Given the description of an element on the screen output the (x, y) to click on. 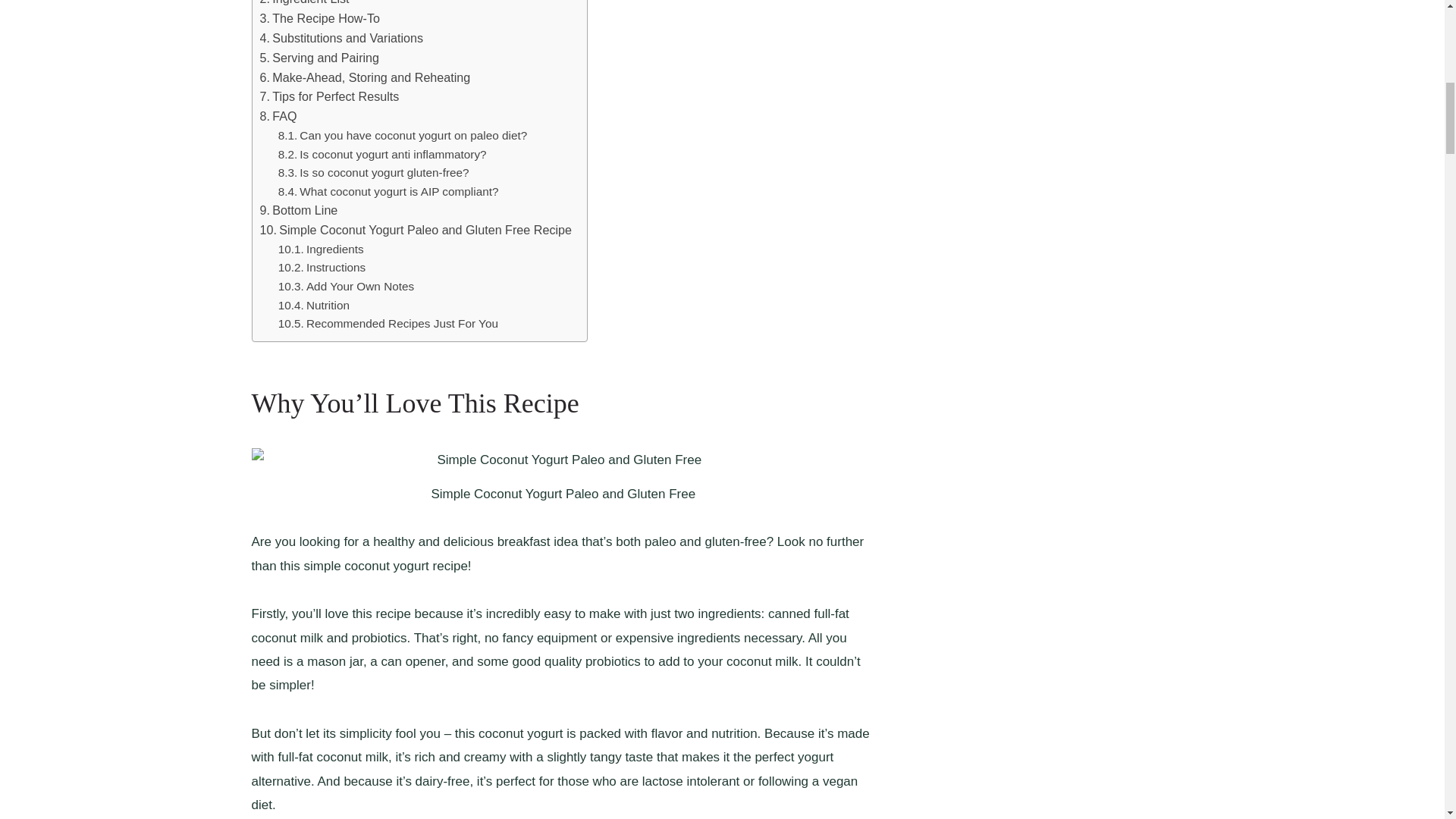
Can you have coconut yogurt on paleo diet? (402, 135)
Ingredients   (324, 249)
FAQ (278, 116)
Simple Coconut Yogurt Paleo and Gluten Free Recipe (415, 230)
What coconut yogurt is AIP compliant? (388, 191)
Add Your Own Notes (345, 286)
Nutrition (313, 305)
Is so coconut yogurt gluten-free? (373, 172)
Can you have coconut yogurt on paleo diet? (402, 135)
FAQ (278, 116)
Is so coconut yogurt gluten-free? (373, 172)
Bottom Line (298, 210)
Tips for Perfect Results (328, 96)
Instructions  (323, 267)
